Given the description of an element on the screen output the (x, y) to click on. 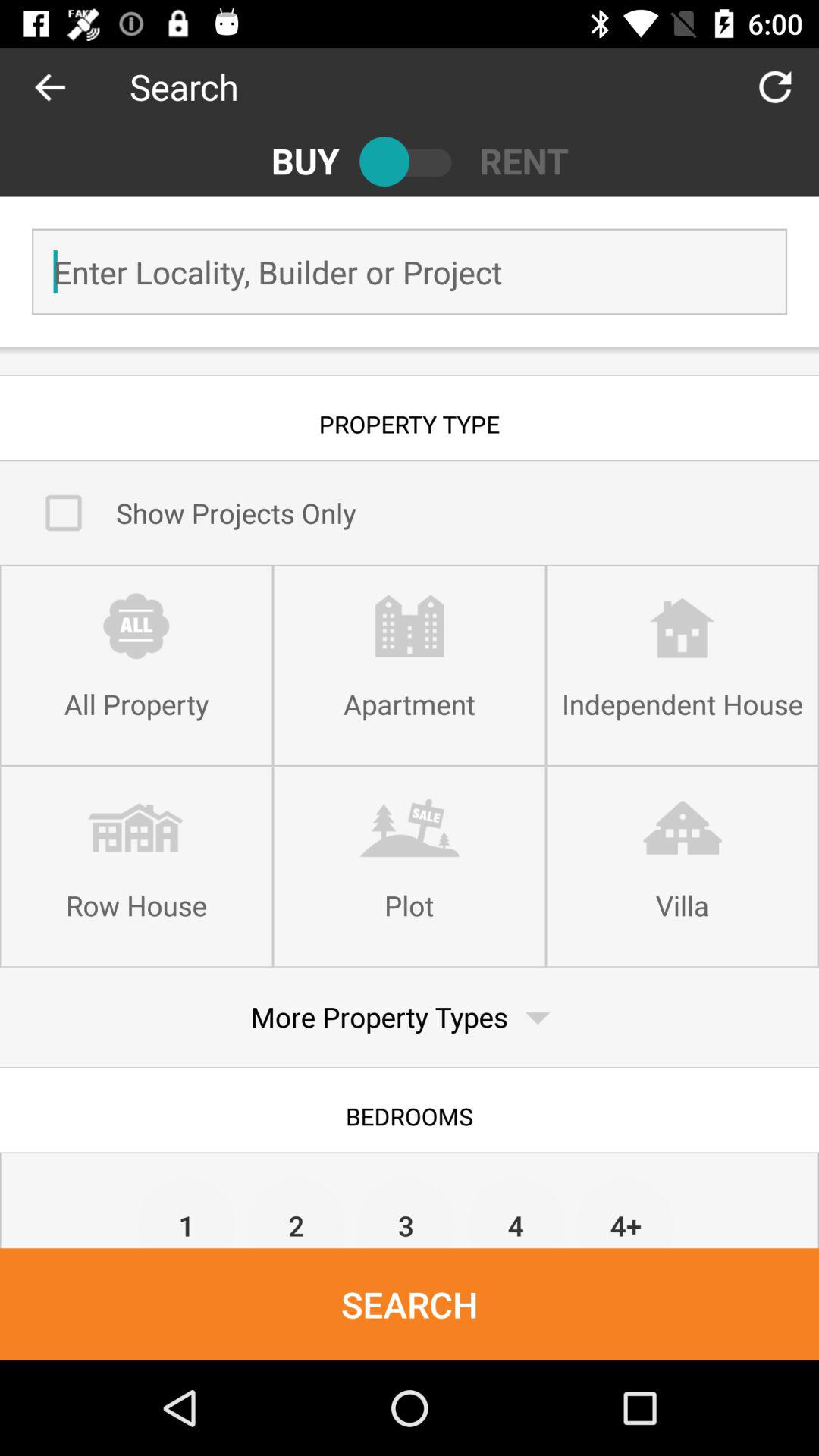
click the item to the right of the 2 item (406, 1212)
